Given the description of an element on the screen output the (x, y) to click on. 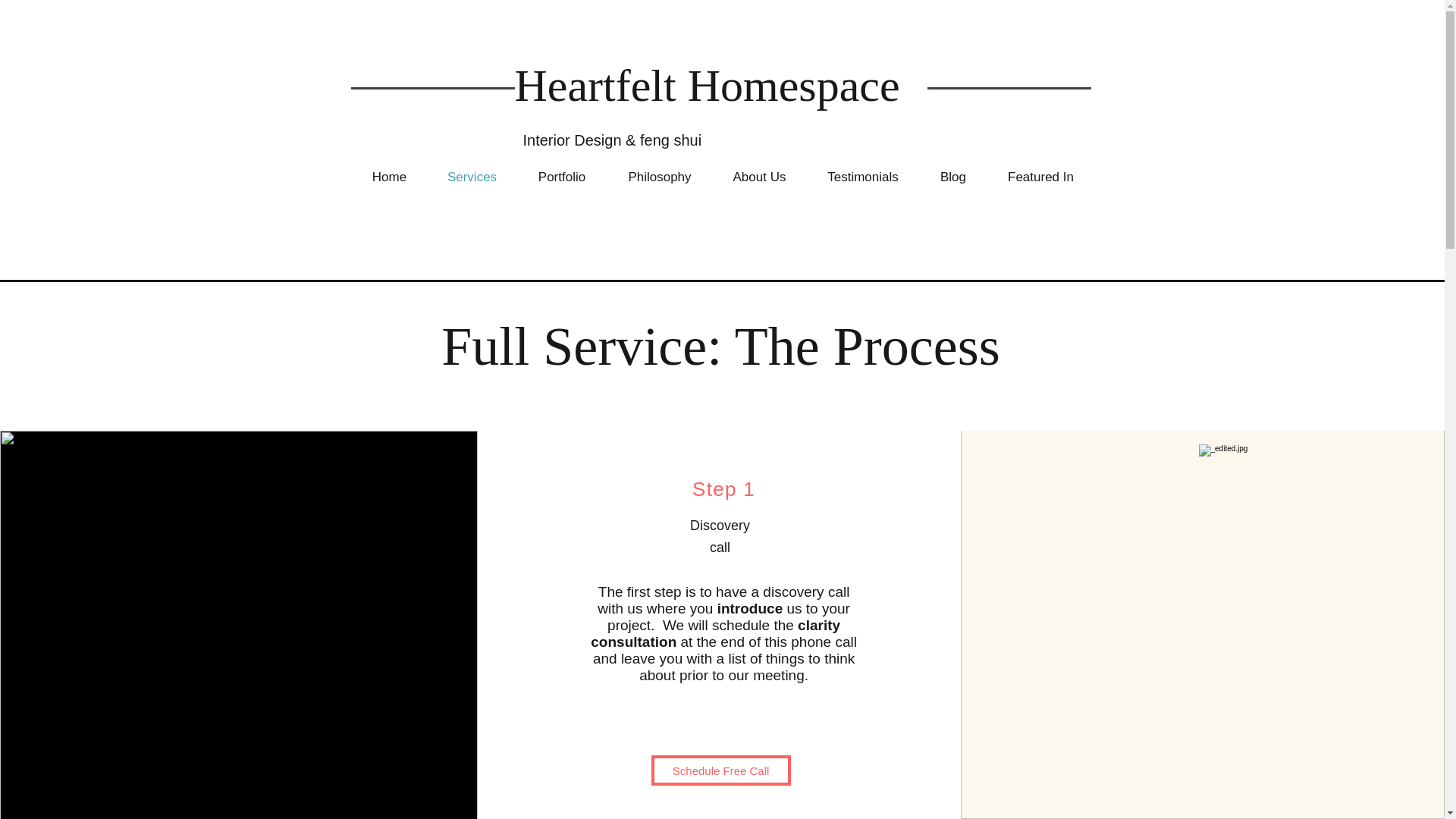
Schedule Free Call (720, 770)
Services (471, 177)
Philosophy (659, 177)
Home (389, 177)
Portfolio (561, 177)
Blog (953, 177)
Featured In (1040, 177)
Testimonials (862, 177)
About Us (758, 177)
